Given the description of an element on the screen output the (x, y) to click on. 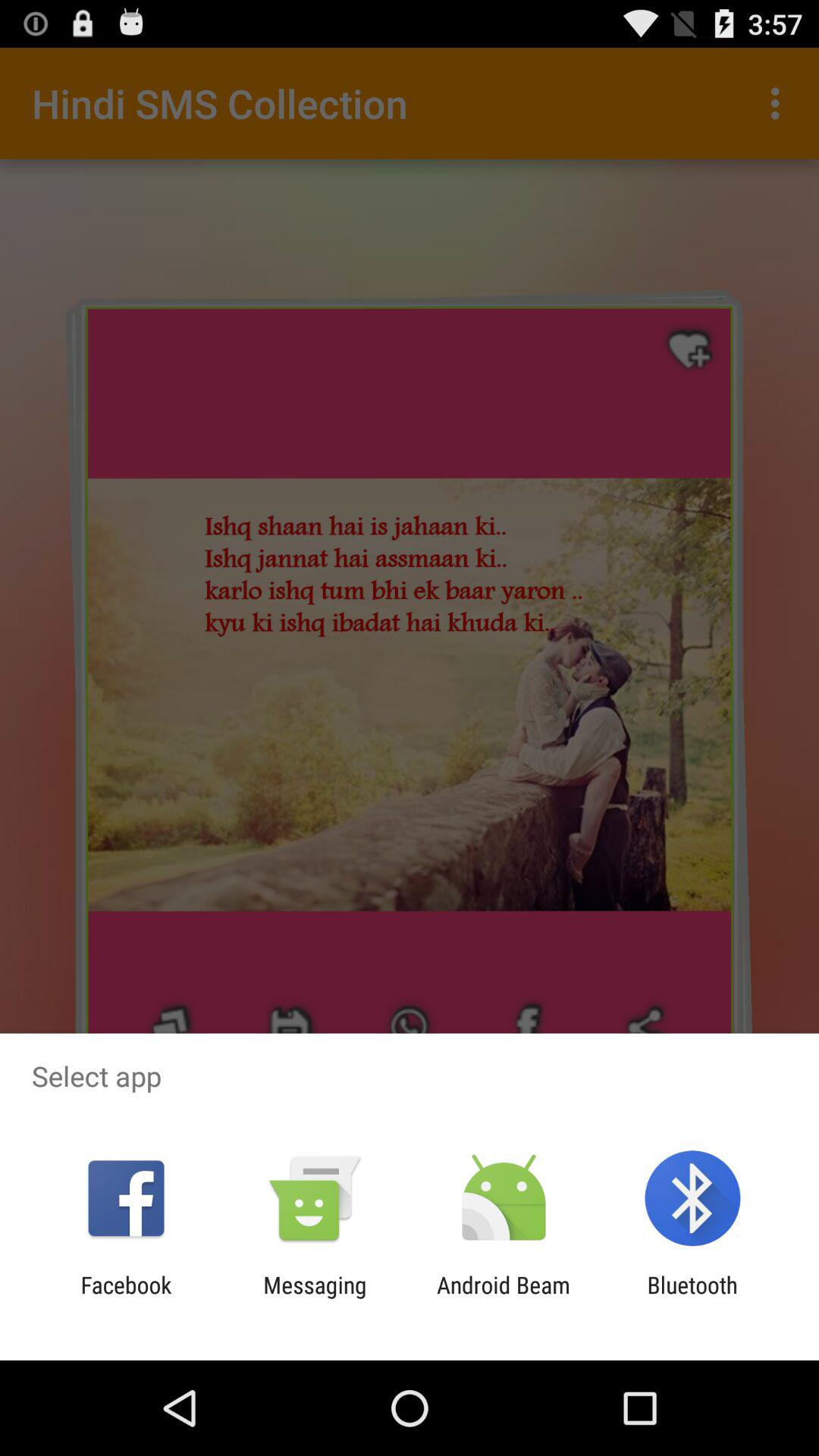
launch the android beam (503, 1298)
